Given the description of an element on the screen output the (x, y) to click on. 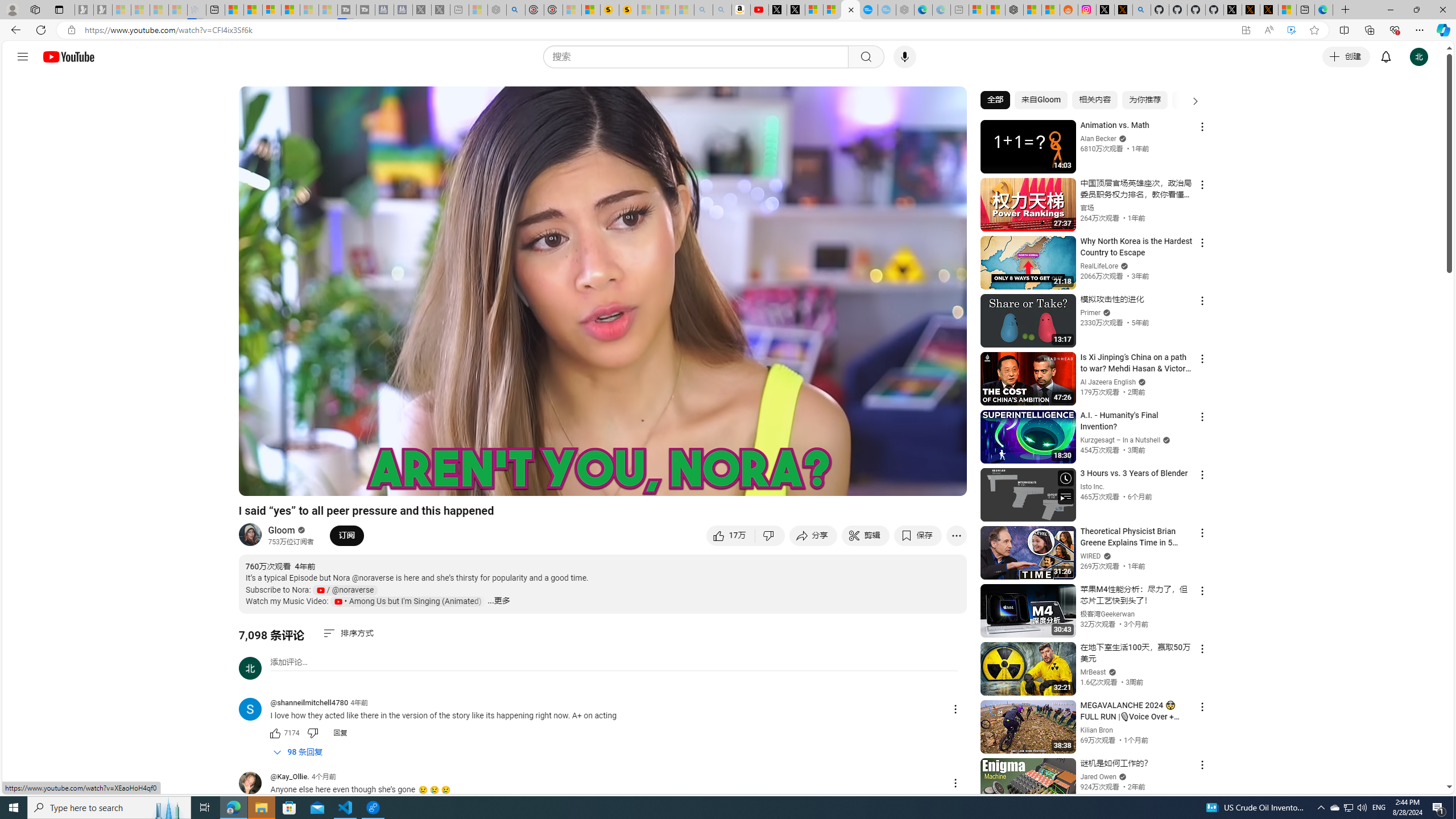
Nordace - Nordace has arrived Hong Kong - Sleeping (904, 9)
Close (1442, 9)
Personal Profile (12, 9)
Michelle Starr, Senior Journalist at ScienceAlert (628, 9)
@shanneilmitchell4780 (254, 709)
AutomationID: simplebox-placeholder (288, 662)
